Given the description of an element on the screen output the (x, y) to click on. 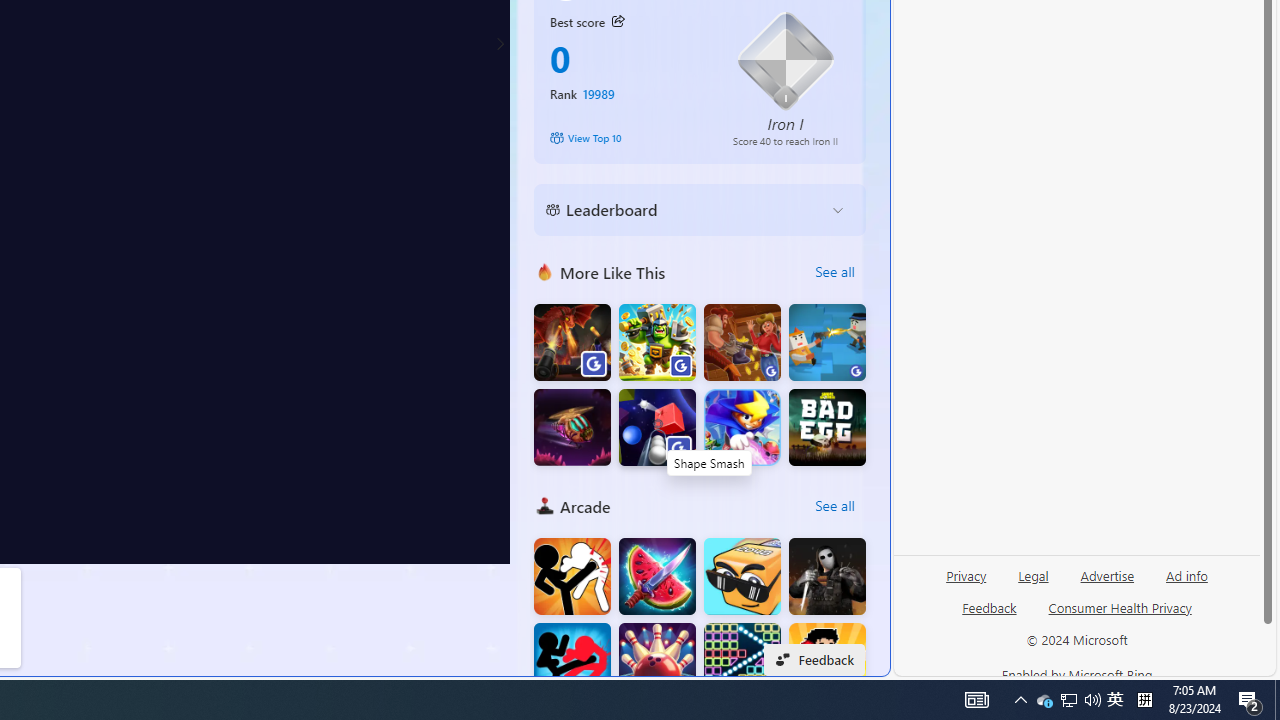
Stickman Fighter : Mega Brawl (571, 576)
Bad Egg (827, 427)
See all (834, 506)
Super Bowling Mania (657, 661)
Fruit Chopper (657, 576)
Gun Master (827, 342)
Kingdom Fight (657, 342)
